Given the description of an element on the screen output the (x, y) to click on. 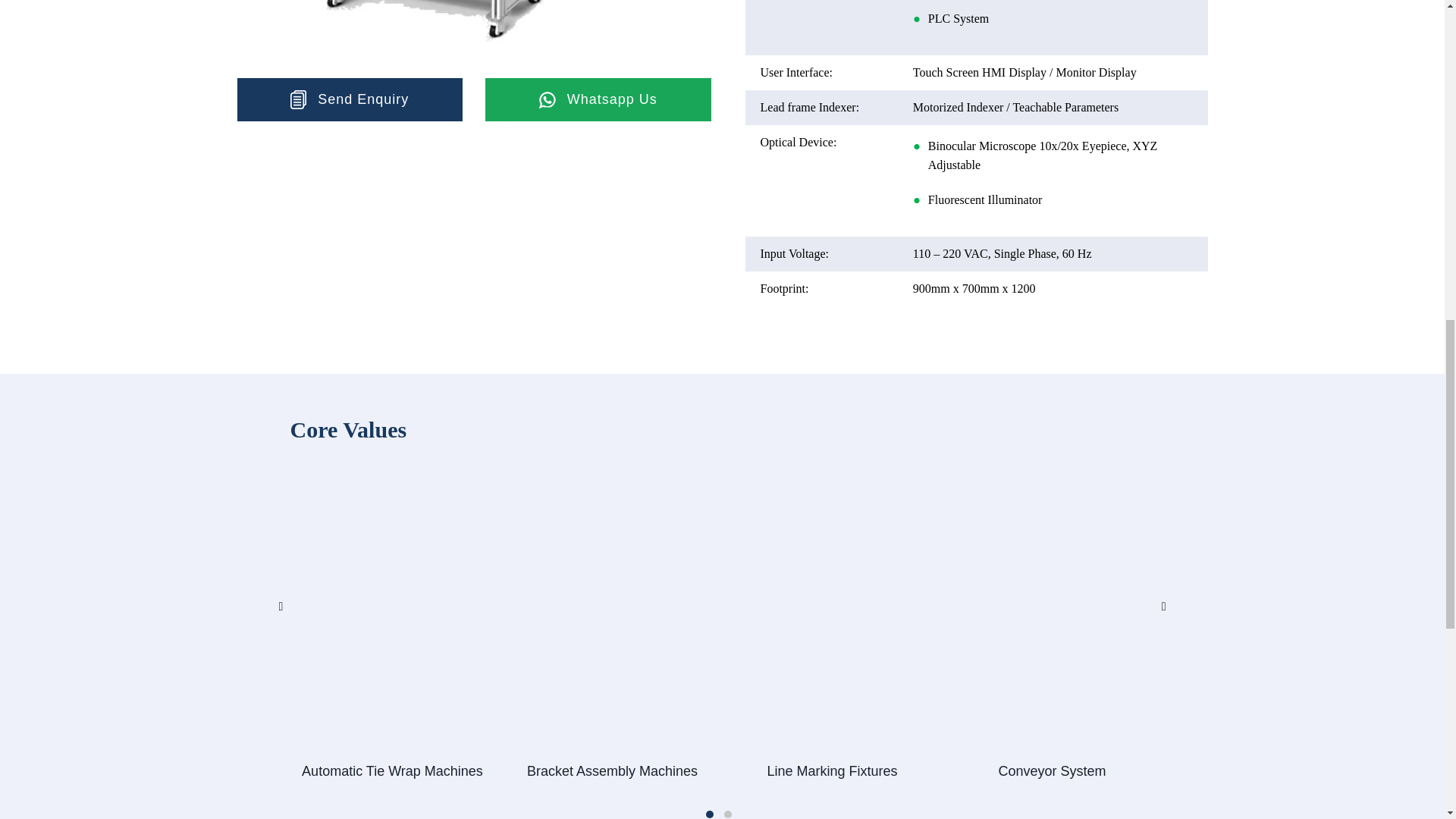
3rd Optical Inspection System (433, 31)
Automatic Tie Wrap Machines (391, 771)
Send Enquiry (349, 99)
Bracket Assembly Machines (611, 771)
Line Marking Fixtures (831, 771)
Whatsapp Us (597, 99)
Conveyor System (1051, 771)
